Given the description of an element on the screen output the (x, y) to click on. 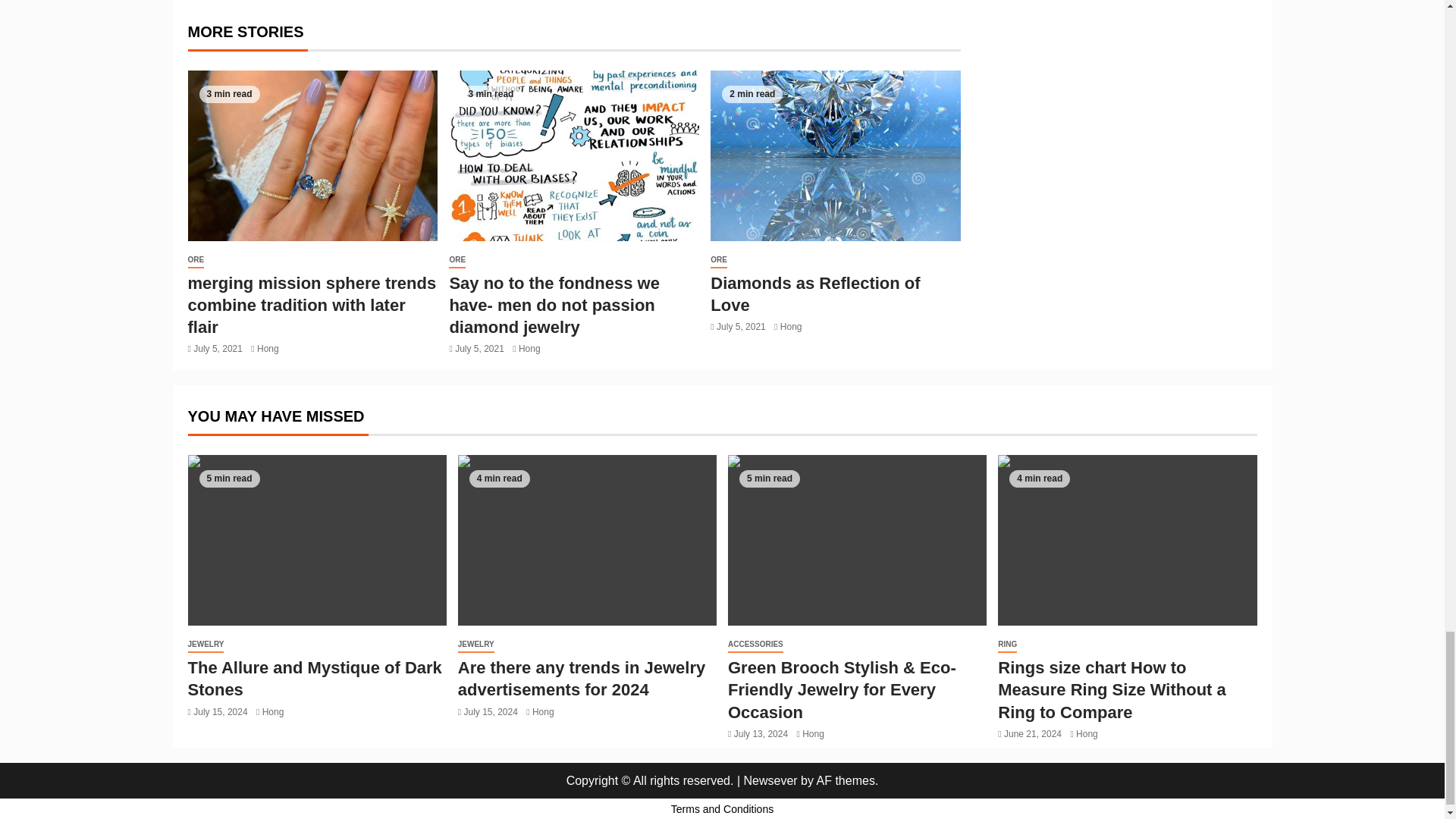
The Allure and Mystique of Dark Stones (316, 540)
Diamonds as Reflection of Love (835, 155)
